Given the description of an element on the screen output the (x, y) to click on. 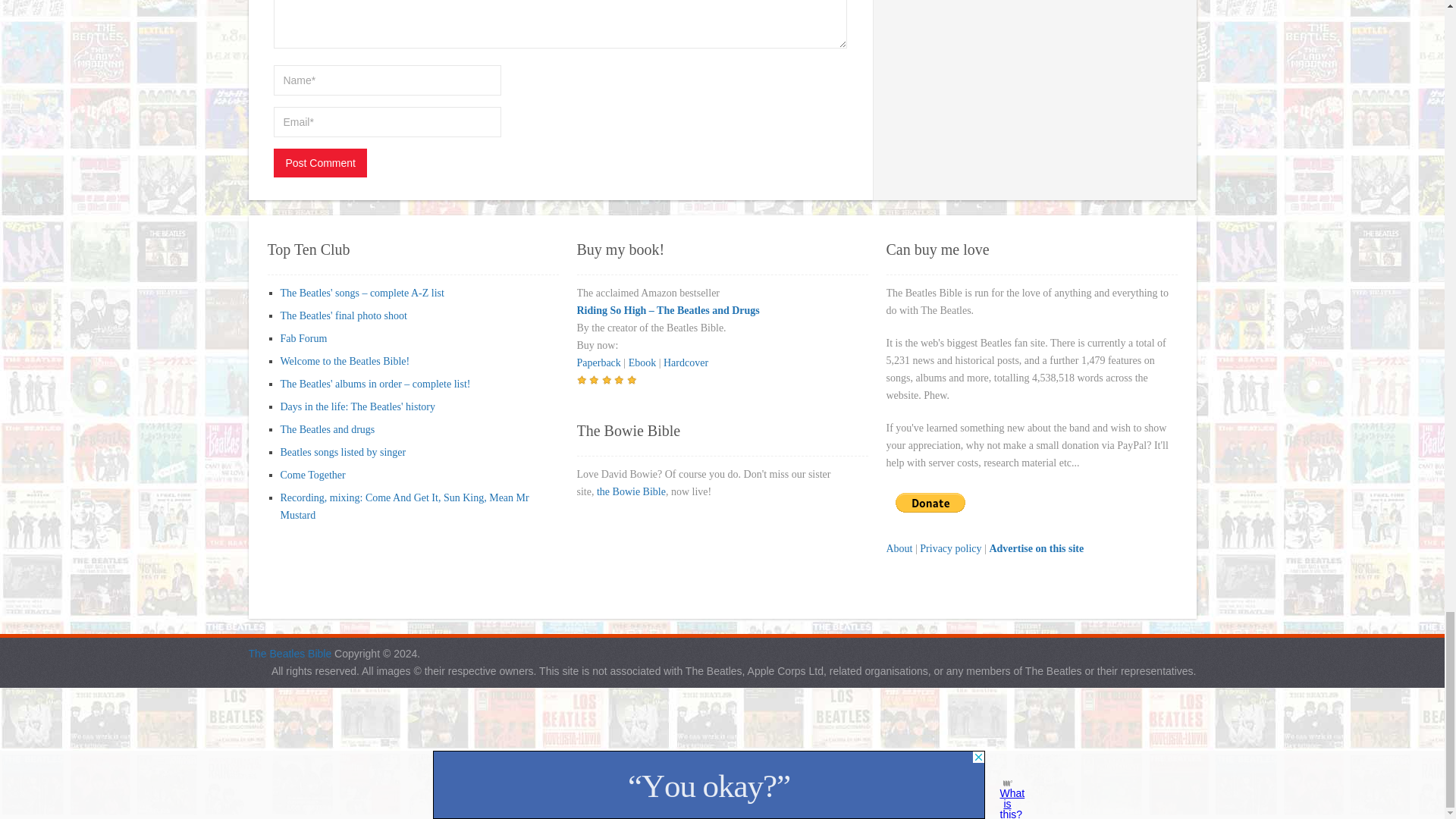
Post Comment (319, 162)
